Given the description of an element on the screen output the (x, y) to click on. 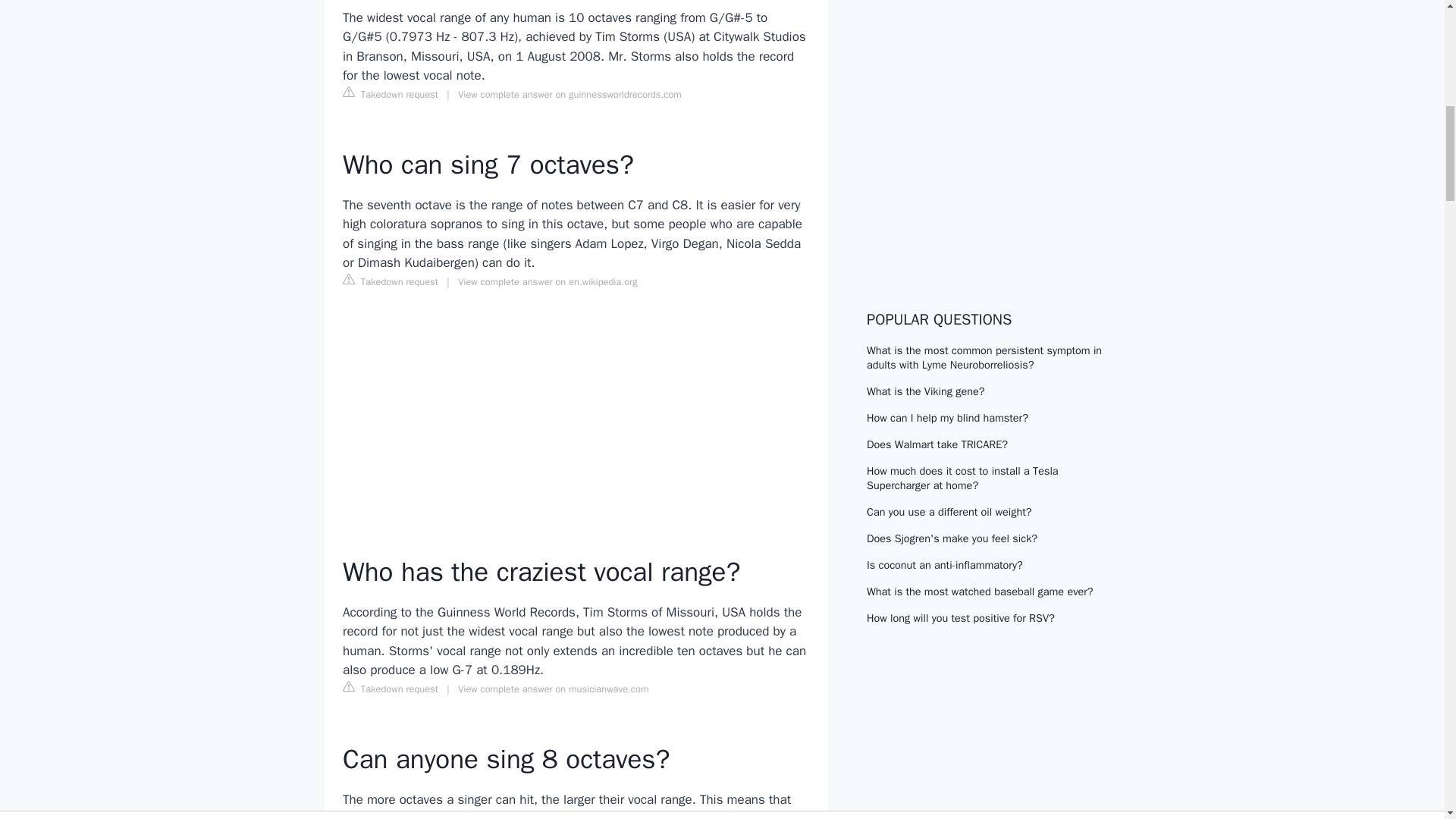
View complete answer on en.wikipedia.org (547, 282)
View complete answer on musicianwave.com (552, 689)
Takedown request (390, 93)
View complete answer on guinnessworldrecords.com (569, 93)
Takedown request (390, 688)
Takedown request (390, 280)
